Given the description of an element on the screen output the (x, y) to click on. 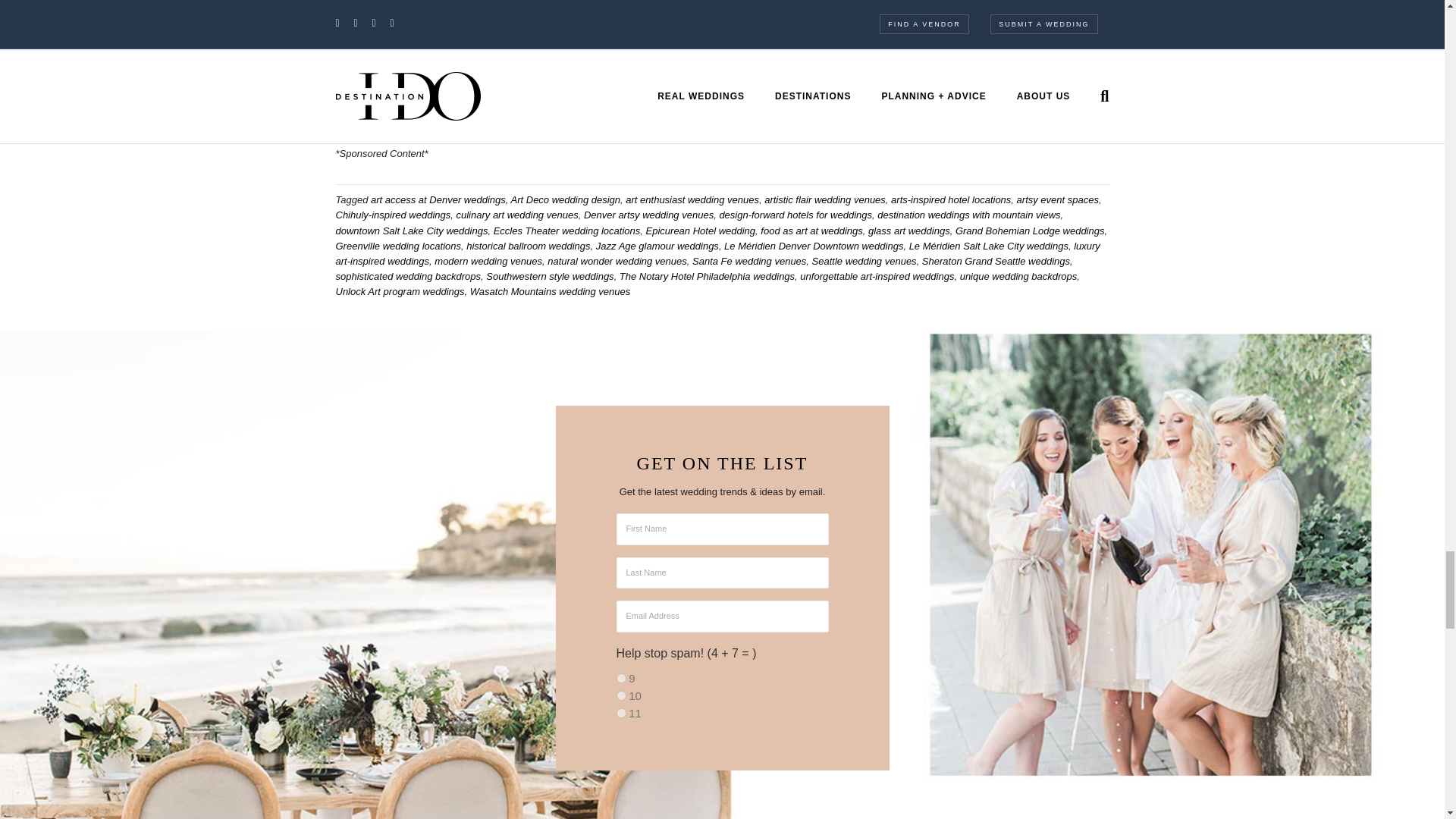
downtown Salt Lake City weddings (410, 230)
artsy event spaces (1057, 199)
culinary art wedding venues (516, 214)
Epicurean Hotel wedding (700, 230)
art enthusiast wedding venues (692, 199)
art access at Denver weddings (438, 199)
design-forward hotels for weddings (795, 214)
artistic flair wedding venues (824, 199)
11 (620, 713)
arts-inspired hotel locations (950, 199)
Eccles Theater wedding locations (566, 230)
9 (620, 678)
food as art at weddings (810, 230)
Denver artsy wedding venues (648, 214)
destination weddings with mountain views (968, 214)
